Given the description of an element on the screen output the (x, y) to click on. 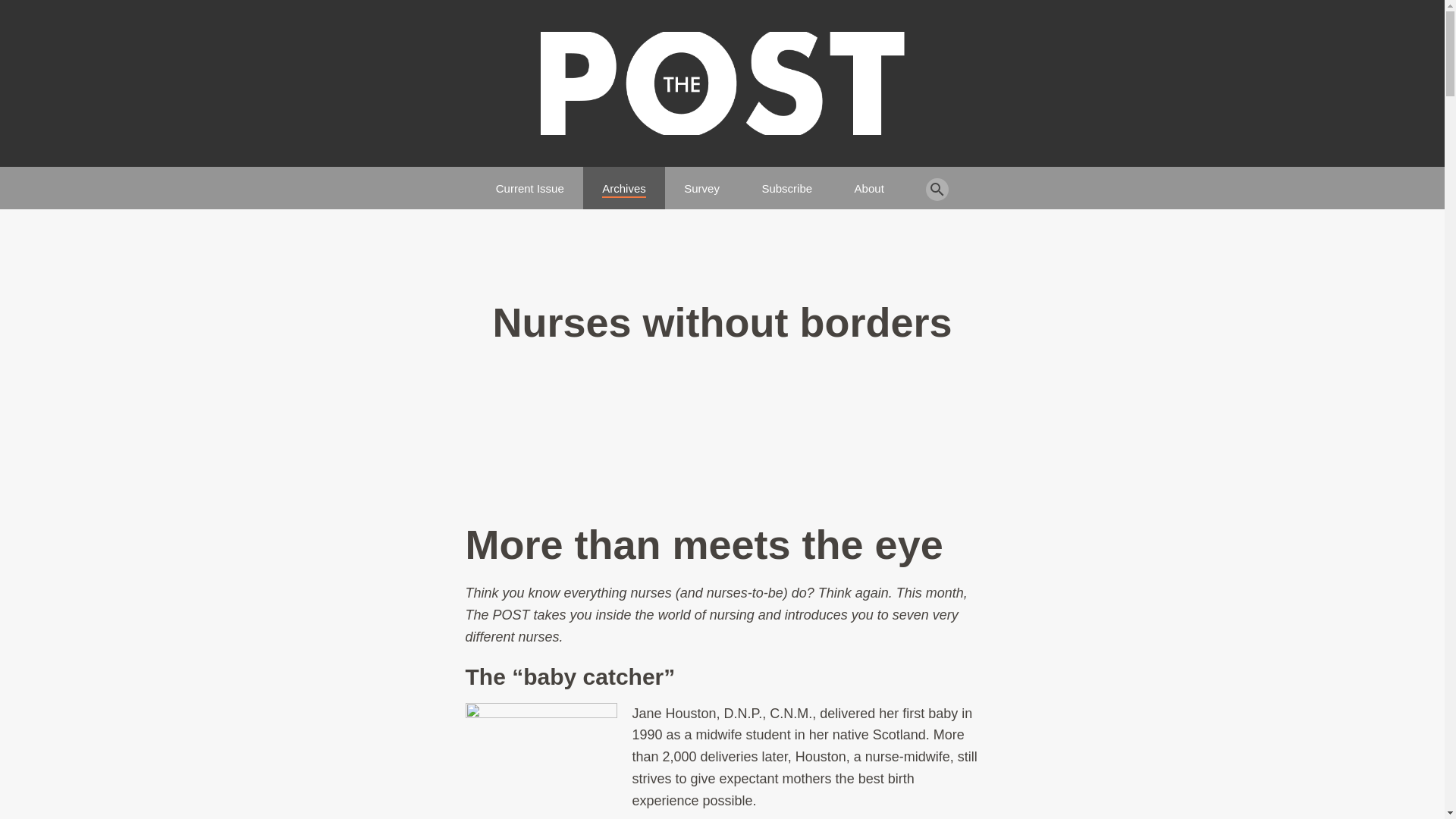
Survey (701, 182)
Archives (624, 182)
The POST - Home (722, 83)
Subscribe (786, 182)
Current Issue (530, 182)
About (868, 182)
